Given the description of an element on the screen output the (x, y) to click on. 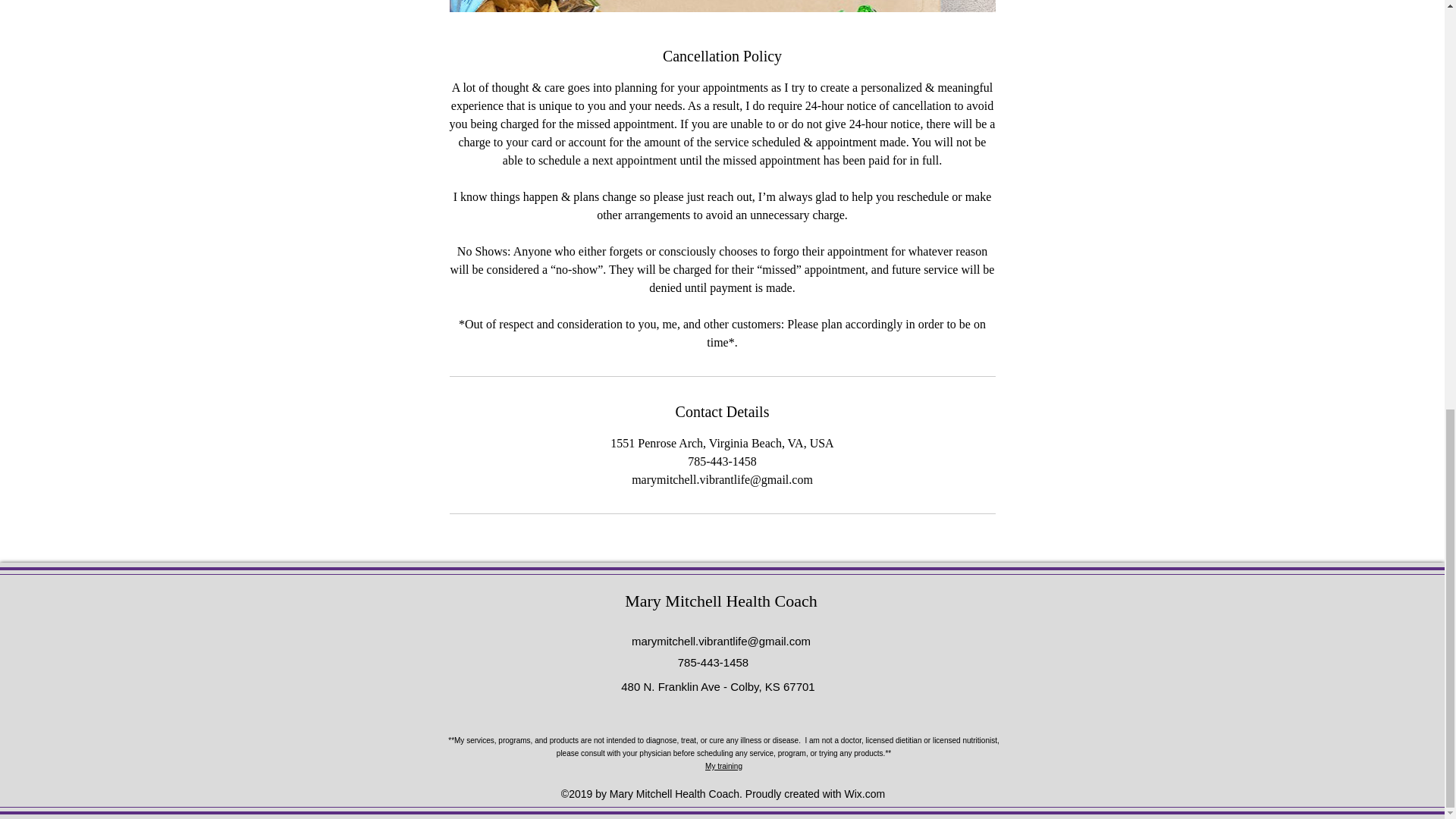
Mary Mitchell Health Coach (720, 600)
My training (723, 764)
